Given the description of an element on the screen output the (x, y) to click on. 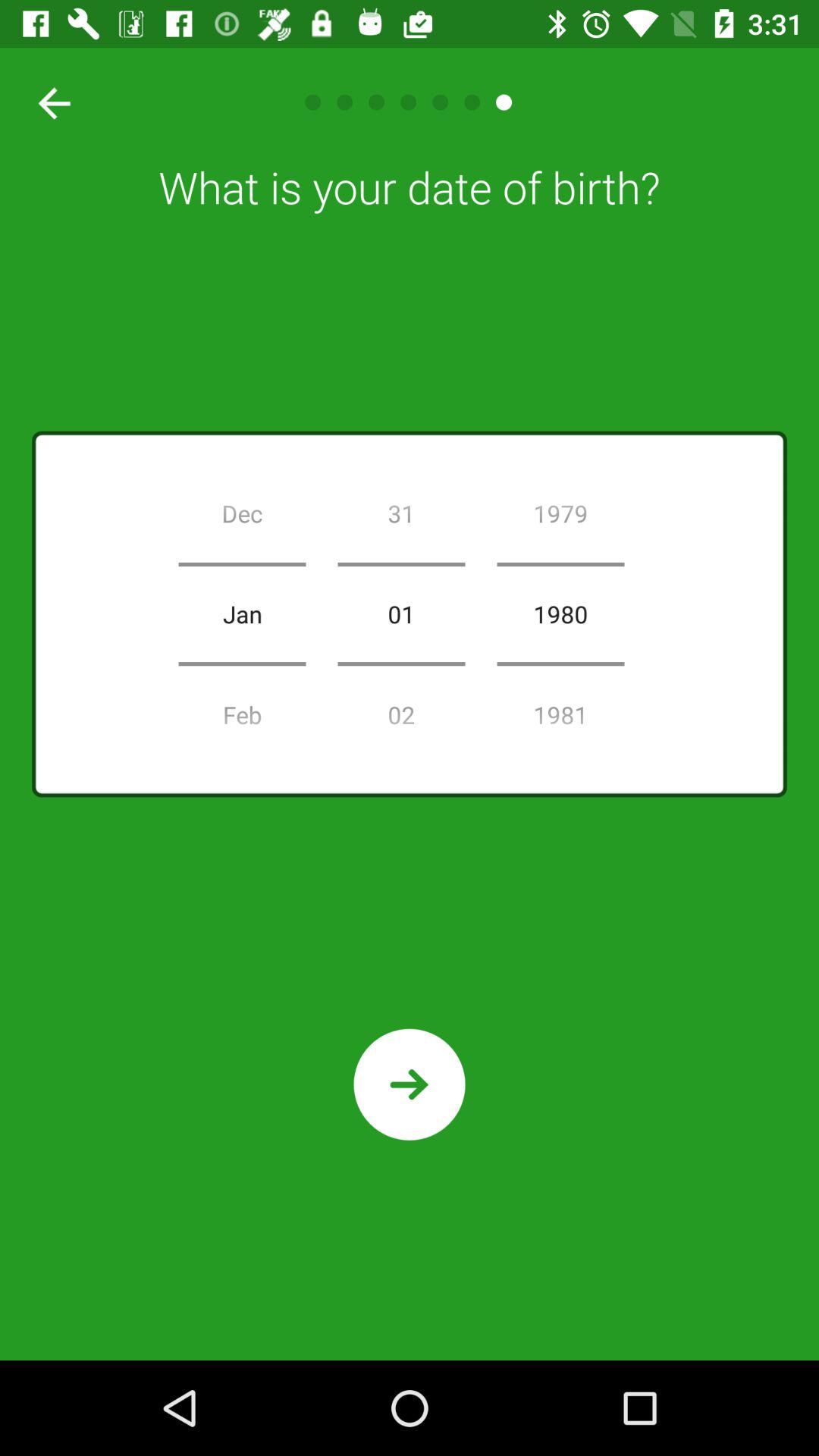
go to back (48, 102)
